Given the description of an element on the screen output the (x, y) to click on. 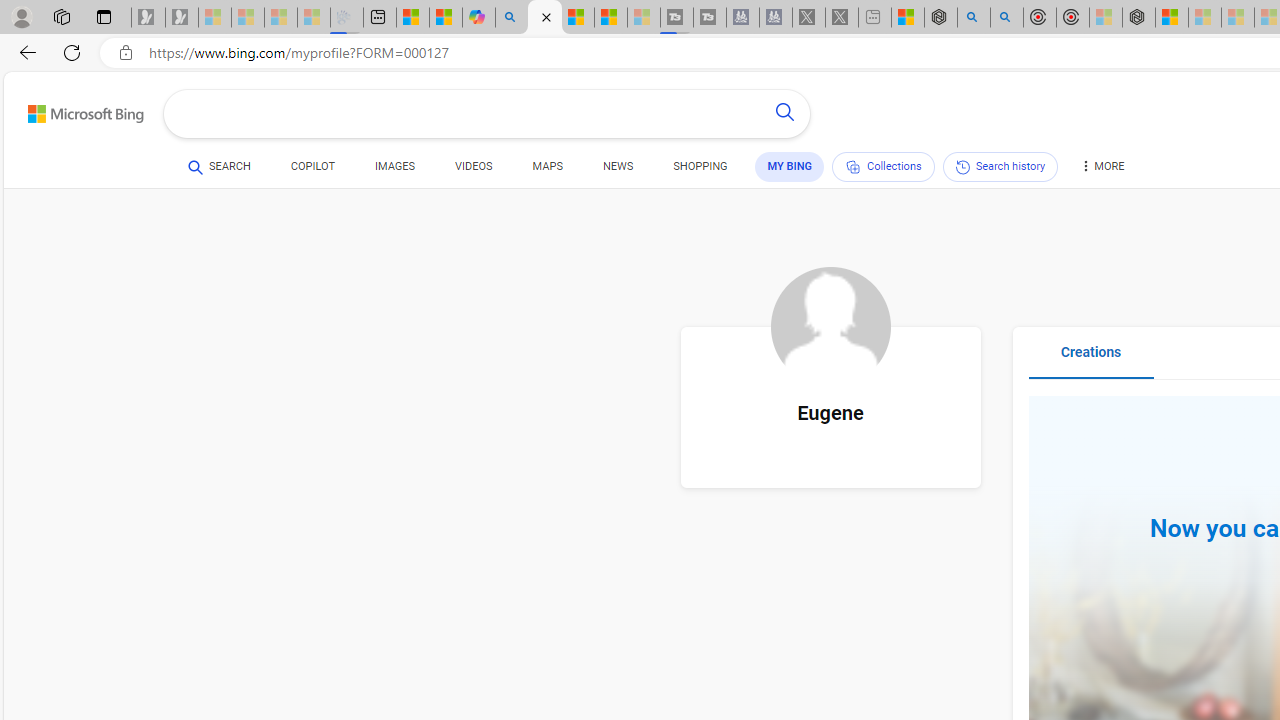
VIDEOS (473, 169)
CollectionsSearch history (944, 169)
